Given the description of an element on the screen output the (x, y) to click on. 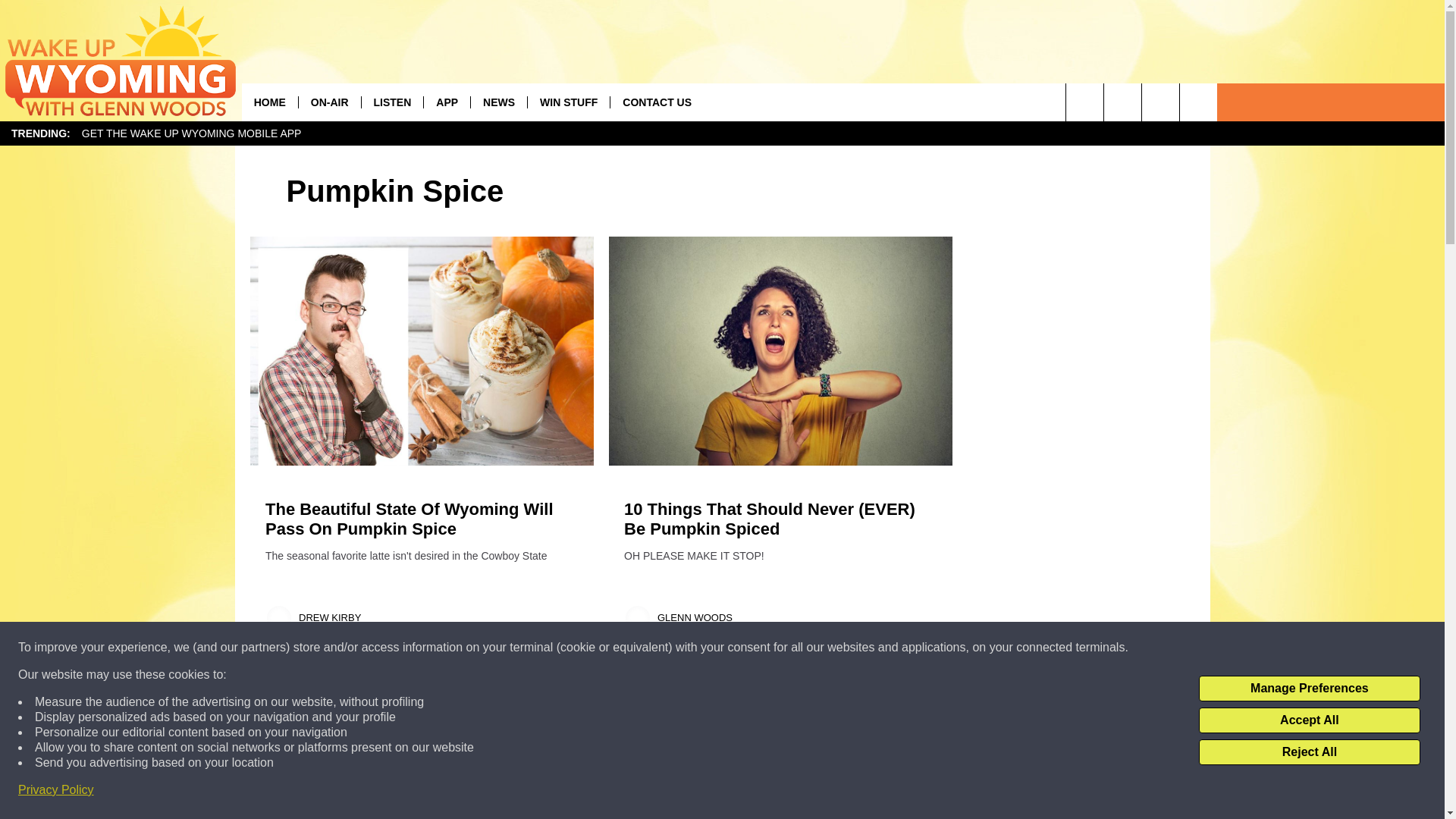
APP (446, 102)
ON-AIR (329, 102)
Reject All (1309, 751)
CONTACT US (656, 102)
Manage Preferences (1309, 688)
WIN STUFF (568, 102)
GET THE WAKE UP WYOMING MOBILE APP (191, 133)
LISTEN (392, 102)
NEWS (498, 102)
HOME (269, 102)
Accept All (1309, 720)
Privacy Policy (55, 789)
